Given the description of an element on the screen output the (x, y) to click on. 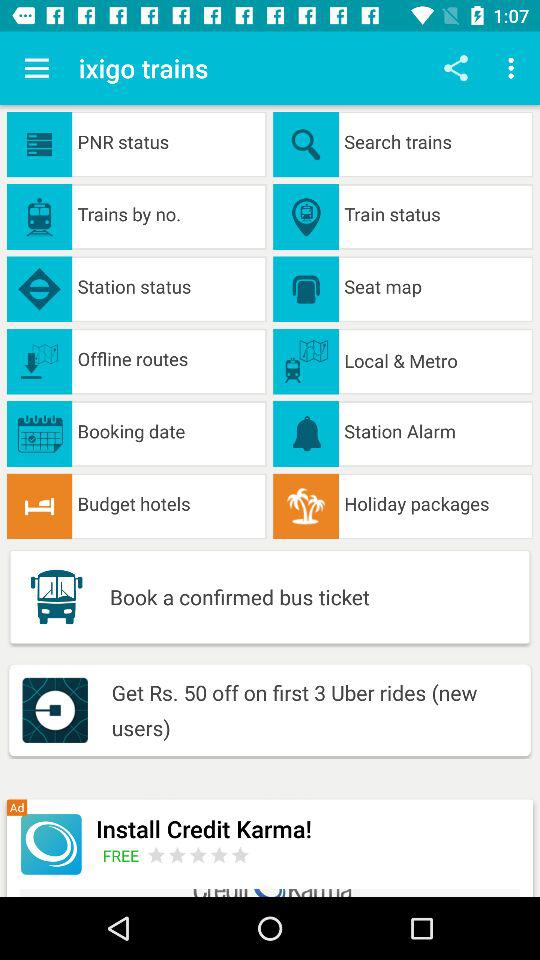
logo part of advertisement (50, 844)
